Given the description of an element on the screen output the (x, y) to click on. 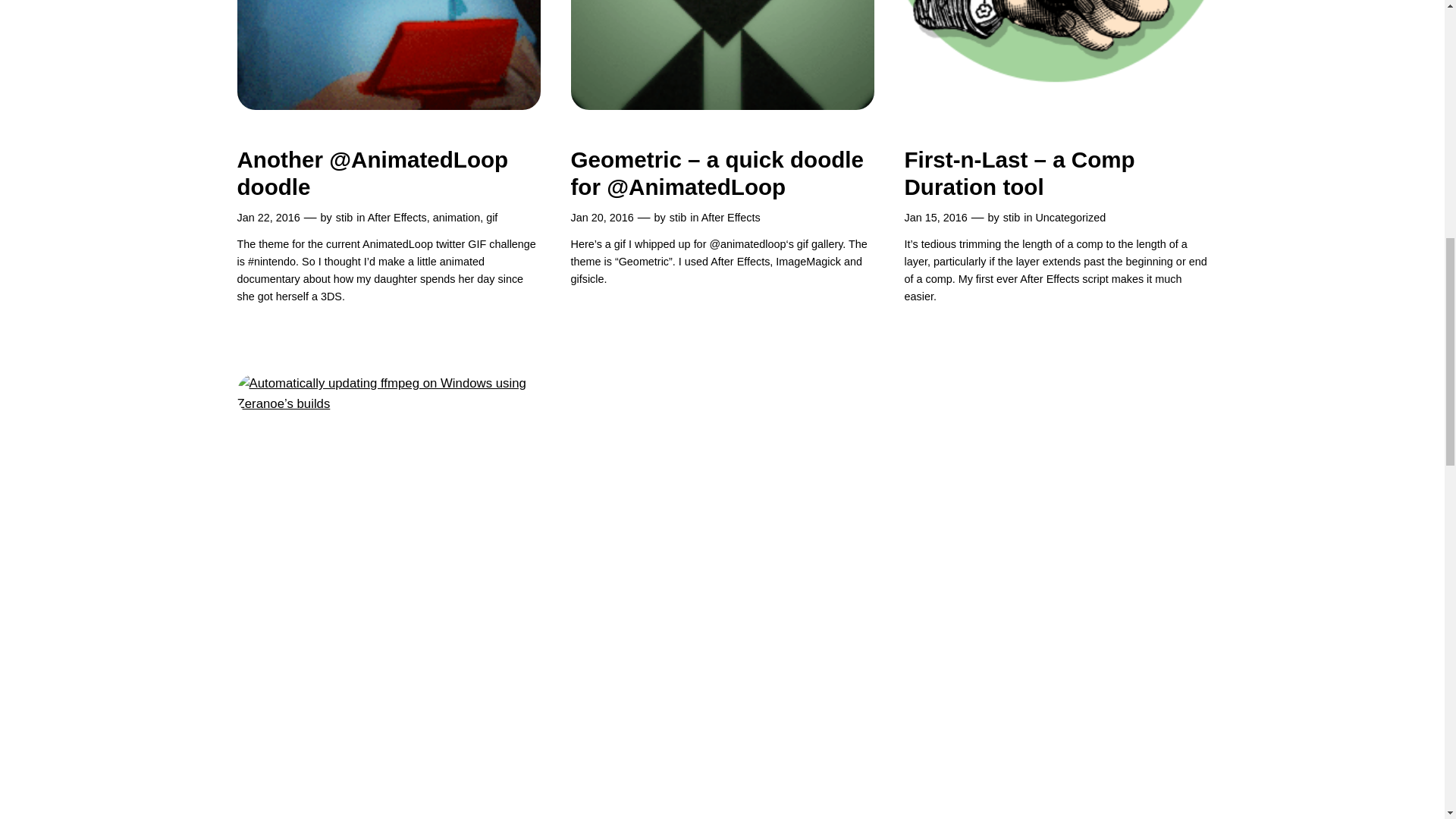
After Effects (397, 217)
Jan 22, 2016 (267, 217)
animation (456, 217)
stib (344, 217)
